Given the description of an element on the screen output the (x, y) to click on. 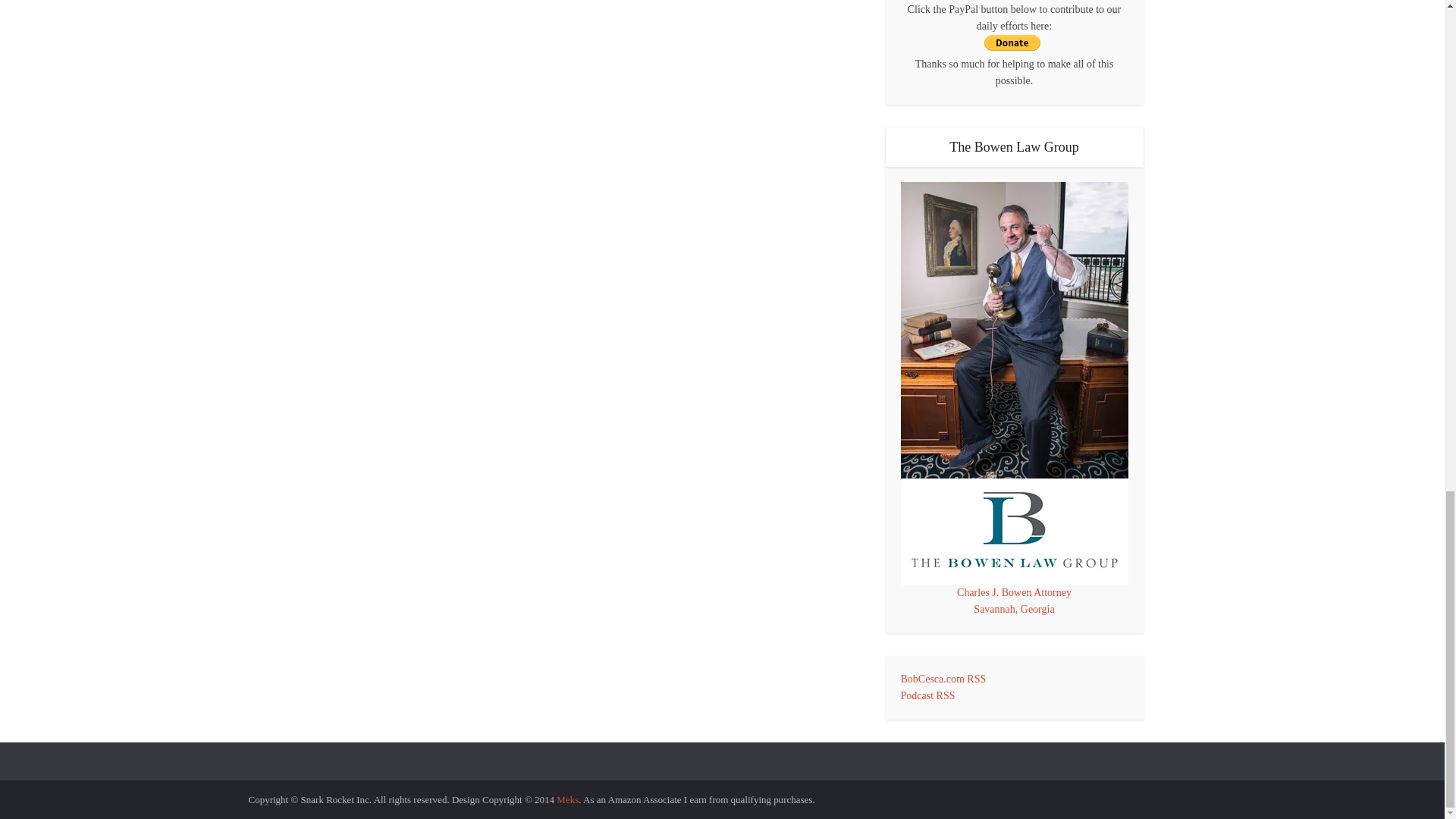
PayPal - The safer, easier way to pay online! (1012, 42)
